Given the description of an element on the screen output the (x, y) to click on. 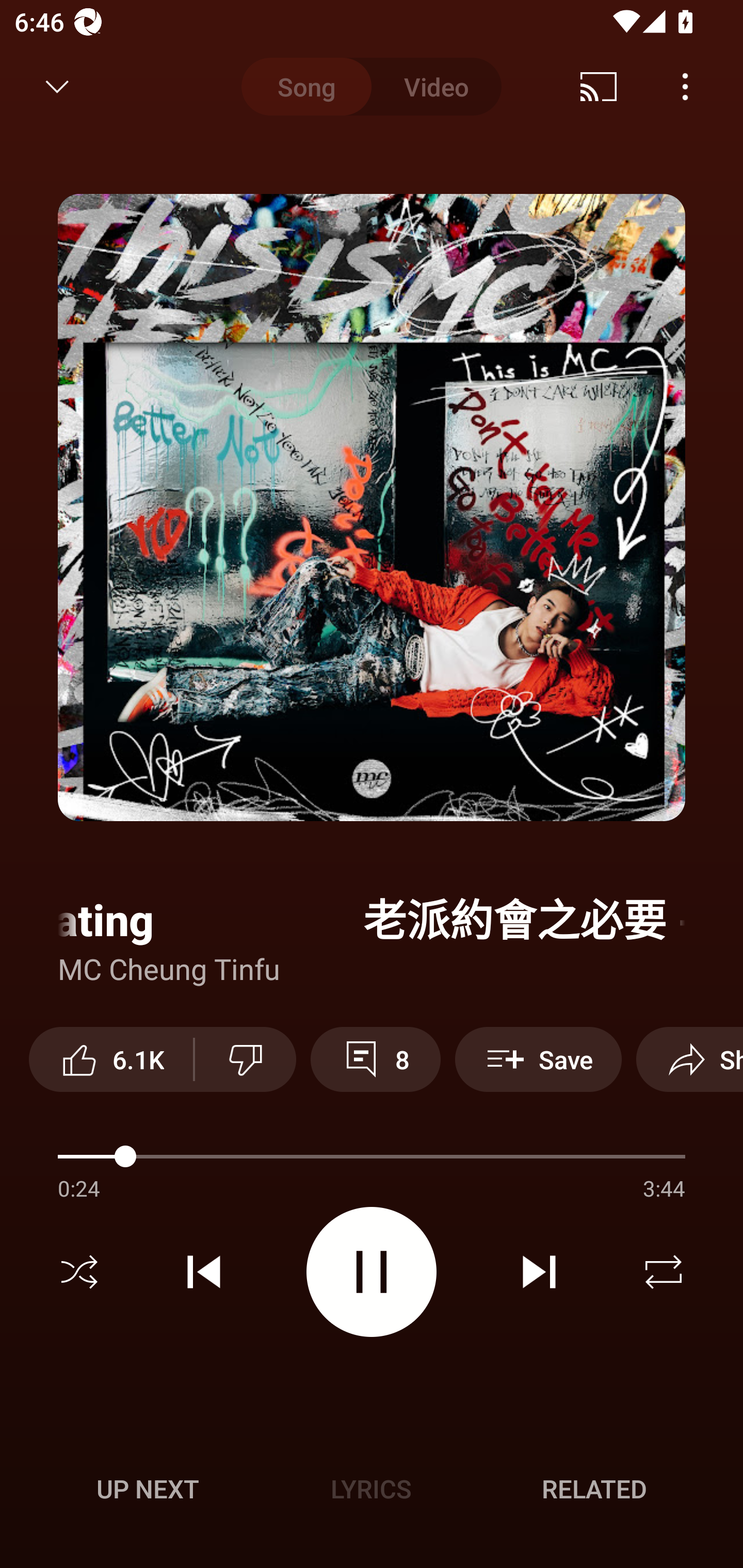
Minimize (57, 86)
Cast. Disconnected (598, 86)
Menu (684, 86)
6.1K like this video along with 6,122 other people (110, 1059)
Dislike (245, 1059)
8 View 8 comments (375, 1059)
Save Save to playlist (537, 1059)
Share (689, 1059)
Pause video (371, 1272)
Shuffle off (79, 1272)
Previous track (203, 1272)
Next track (538, 1272)
Repeat off (663, 1272)
Up next UP NEXT Lyrics LYRICS Related RELATED (371, 1491)
Lyrics LYRICS (370, 1488)
Related RELATED (594, 1488)
